Given the description of an element on the screen output the (x, y) to click on. 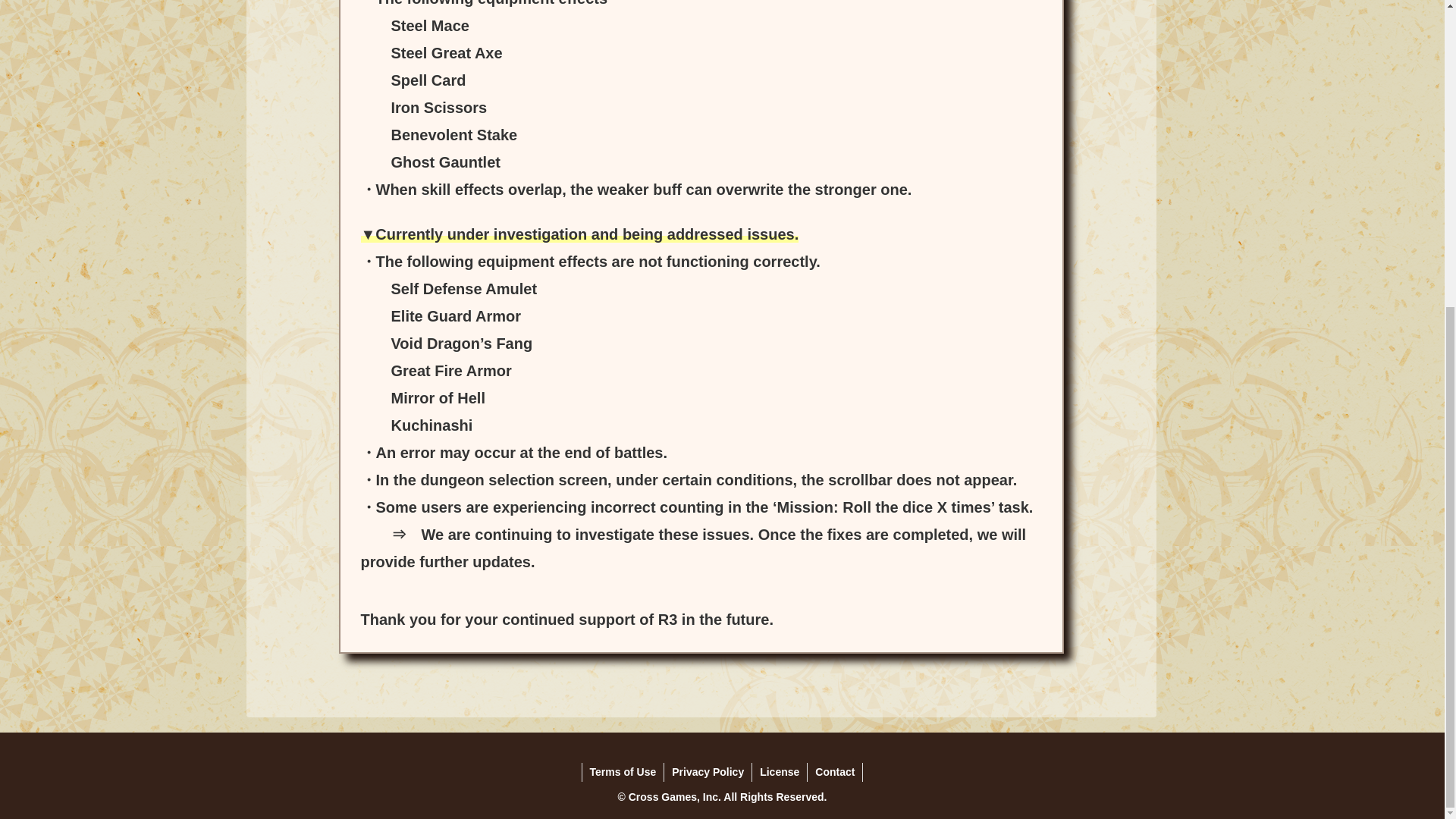
Contact (834, 772)
License (779, 772)
Terms of Use (622, 772)
Privacy Policy (707, 772)
